Given the description of an element on the screen output the (x, y) to click on. 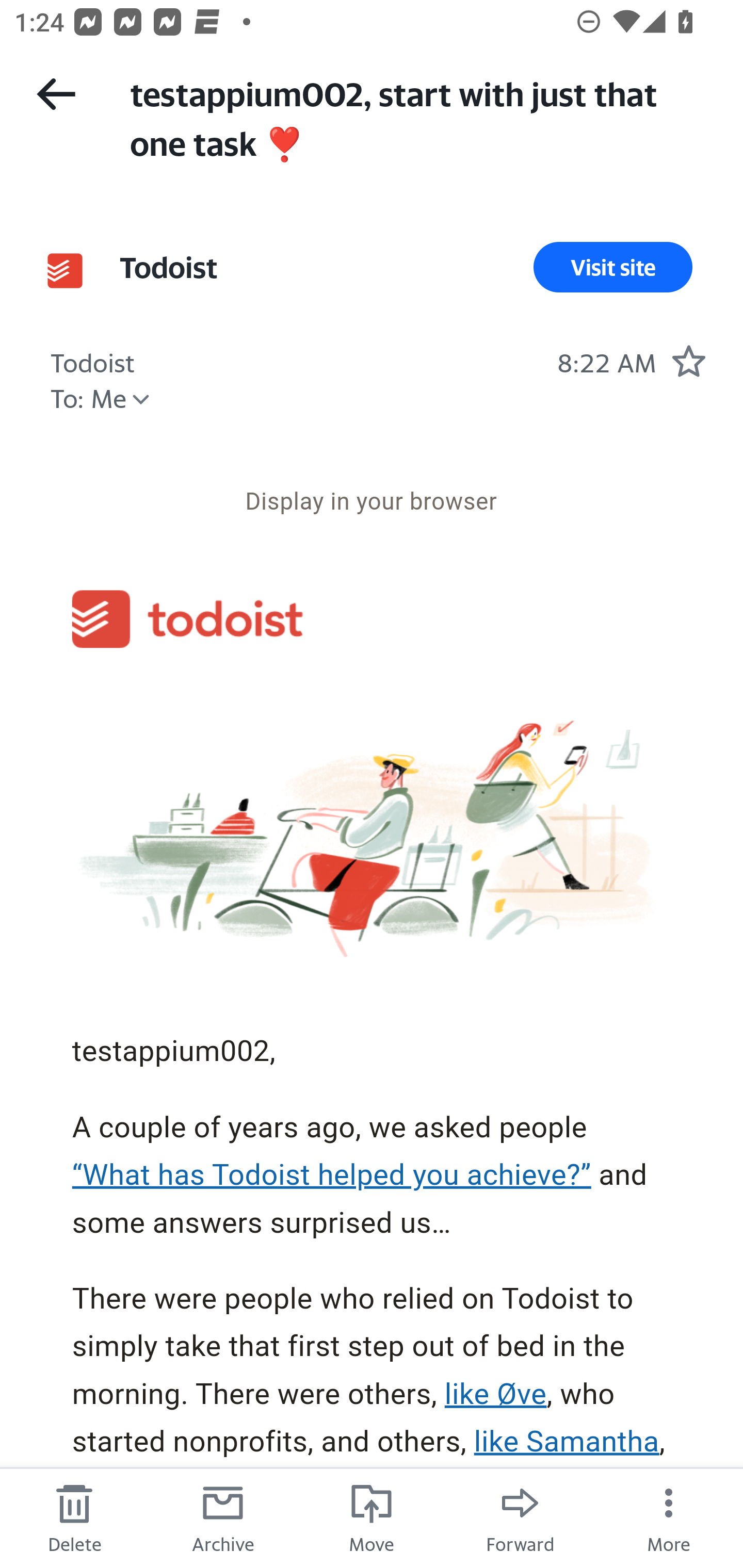
Back (55, 93)
testappium002, start with just that one task ❣️ (418, 116)
View all messages from sender (64, 270)
Visit site Visit Site Link (612, 267)
Todoist Sender Todoist (167, 266)
Todoist Sender Todoist (92, 360)
Mark as starred. (688, 361)
Display in your browser (371, 500)
Todoist logo (187, 619)
“What has Todoist helped you achieve?” (332, 1175)
like Øve (495, 1394)
like Samantha (566, 1441)
Delete (74, 1517)
Archive (222, 1517)
Move (371, 1517)
Forward (519, 1517)
More (668, 1517)
